Given the description of an element on the screen output the (x, y) to click on. 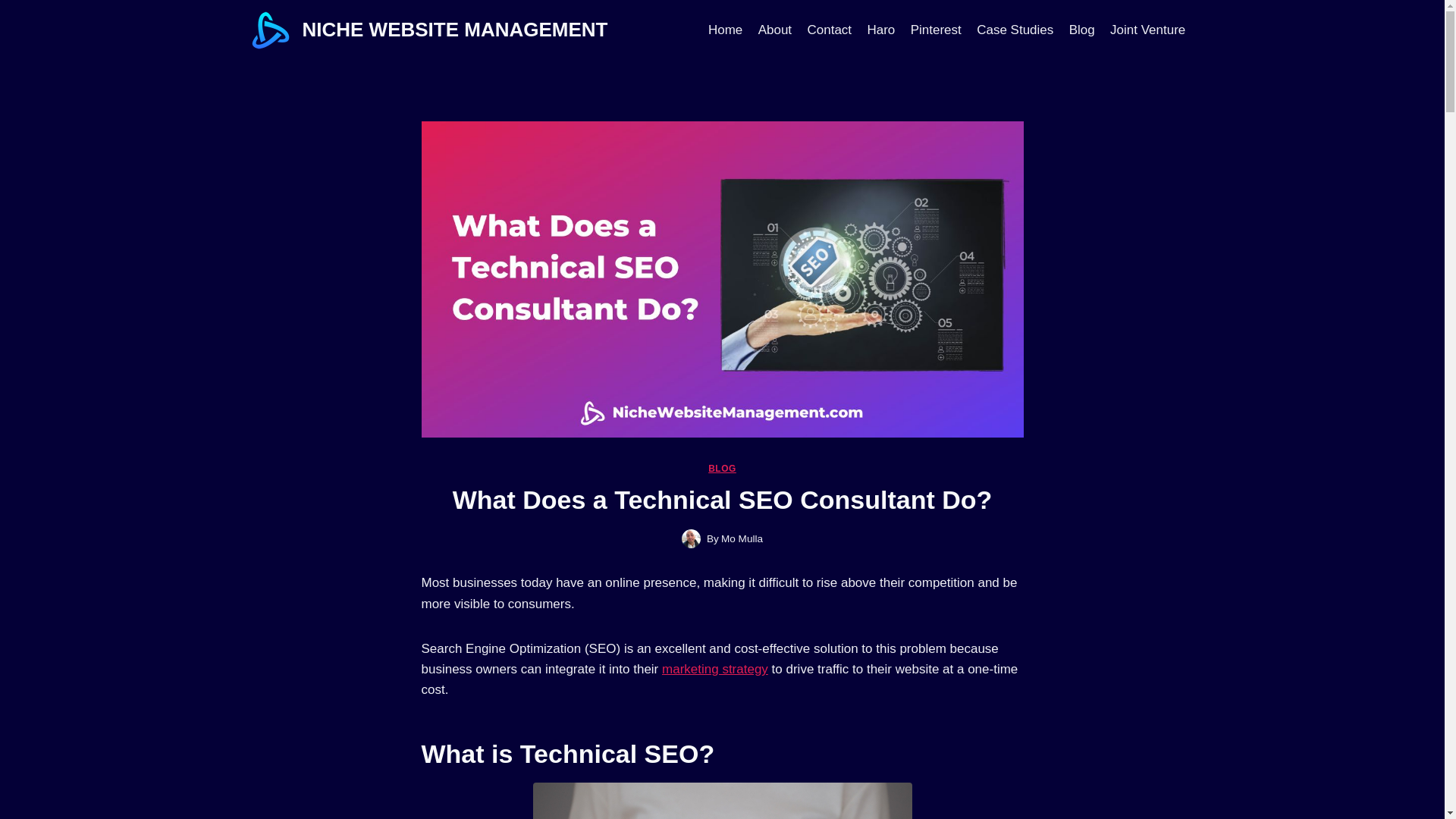
Blog (1081, 30)
Haro (880, 30)
Joint Venture (1147, 30)
Case Studies (1015, 30)
NICHE WEBSITE MANAGEMENT (429, 30)
Pinterest (935, 30)
About (774, 30)
Contact (829, 30)
BLOG (721, 468)
Home (725, 30)
